Given the description of an element on the screen output the (x, y) to click on. 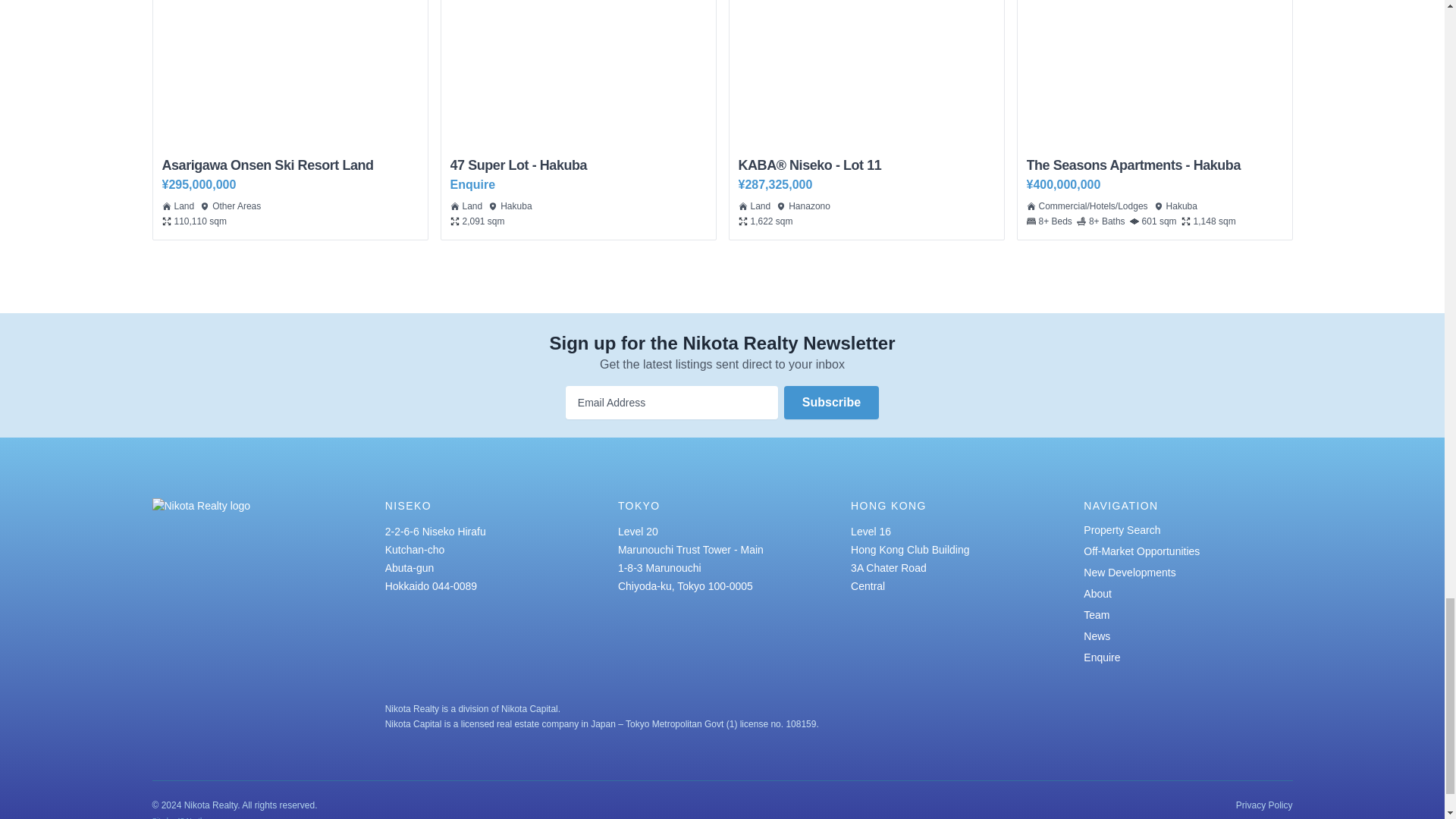
Property Search (1121, 530)
Off-Market Opportunities (1141, 551)
Subscribe (578, 119)
